Given the description of an element on the screen output the (x, y) to click on. 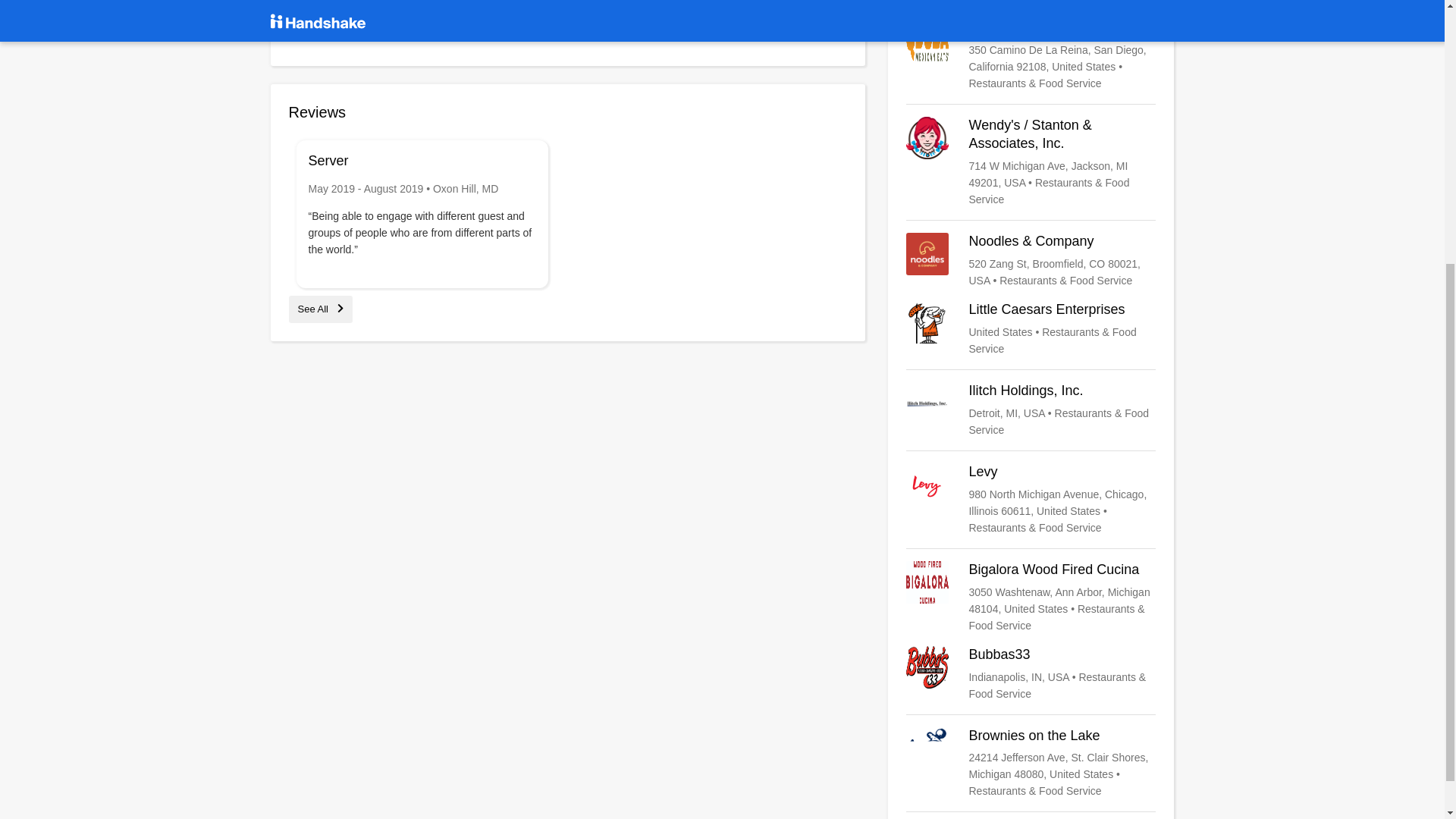
Little Caesars Enterprises (1030, 329)
Ilitch Holdings, Inc. (1030, 410)
Bubbas33 (1030, 673)
Qdoba Mexican Eats (1030, 54)
See All (320, 308)
Levy (1030, 499)
Brownies on the Lake (1030, 763)
Bigalora Wood Fired Cucina (1030, 597)
